Given the description of an element on the screen output the (x, y) to click on. 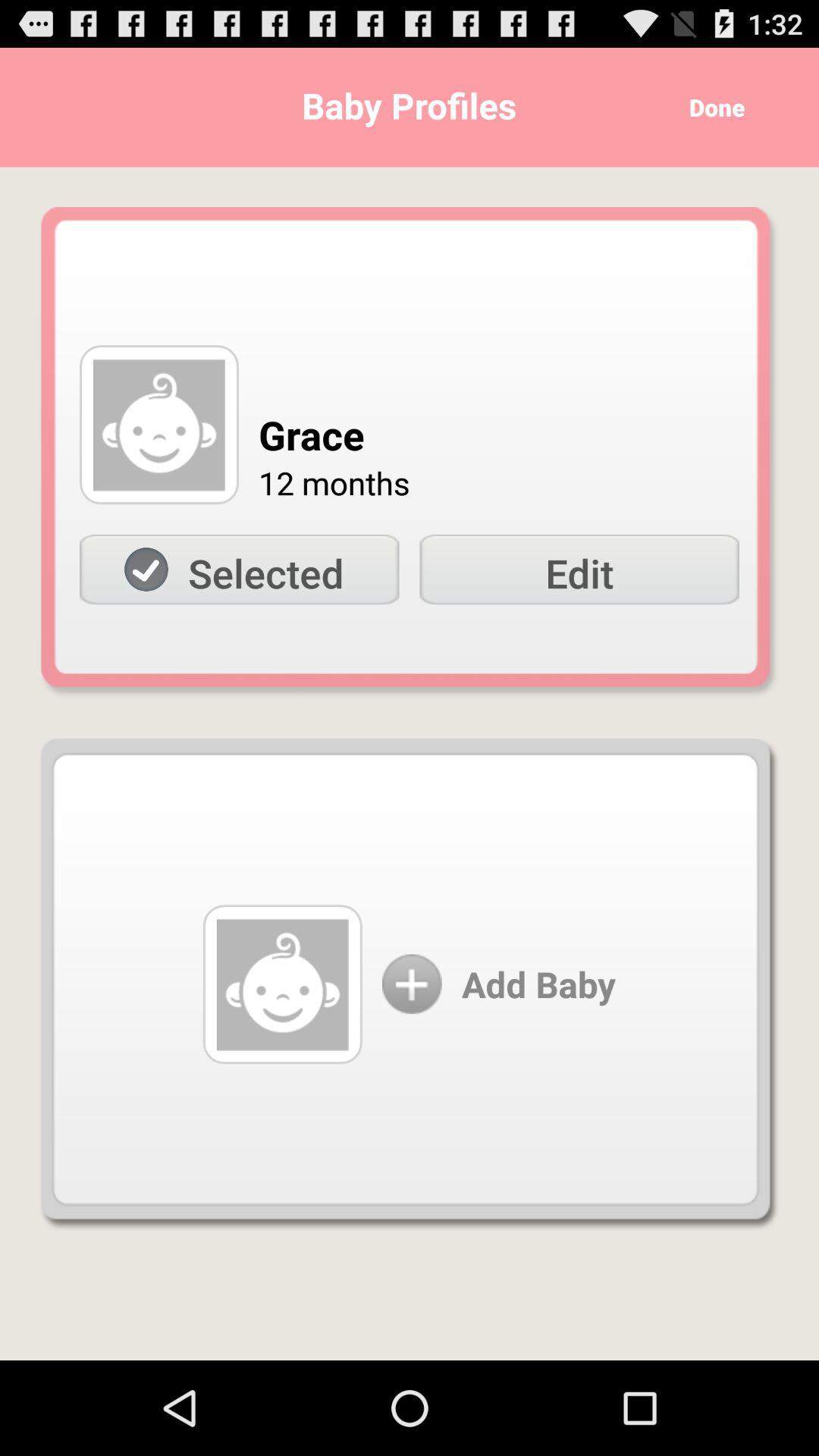
turn off the done (711, 107)
